Given the description of an element on the screen output the (x, y) to click on. 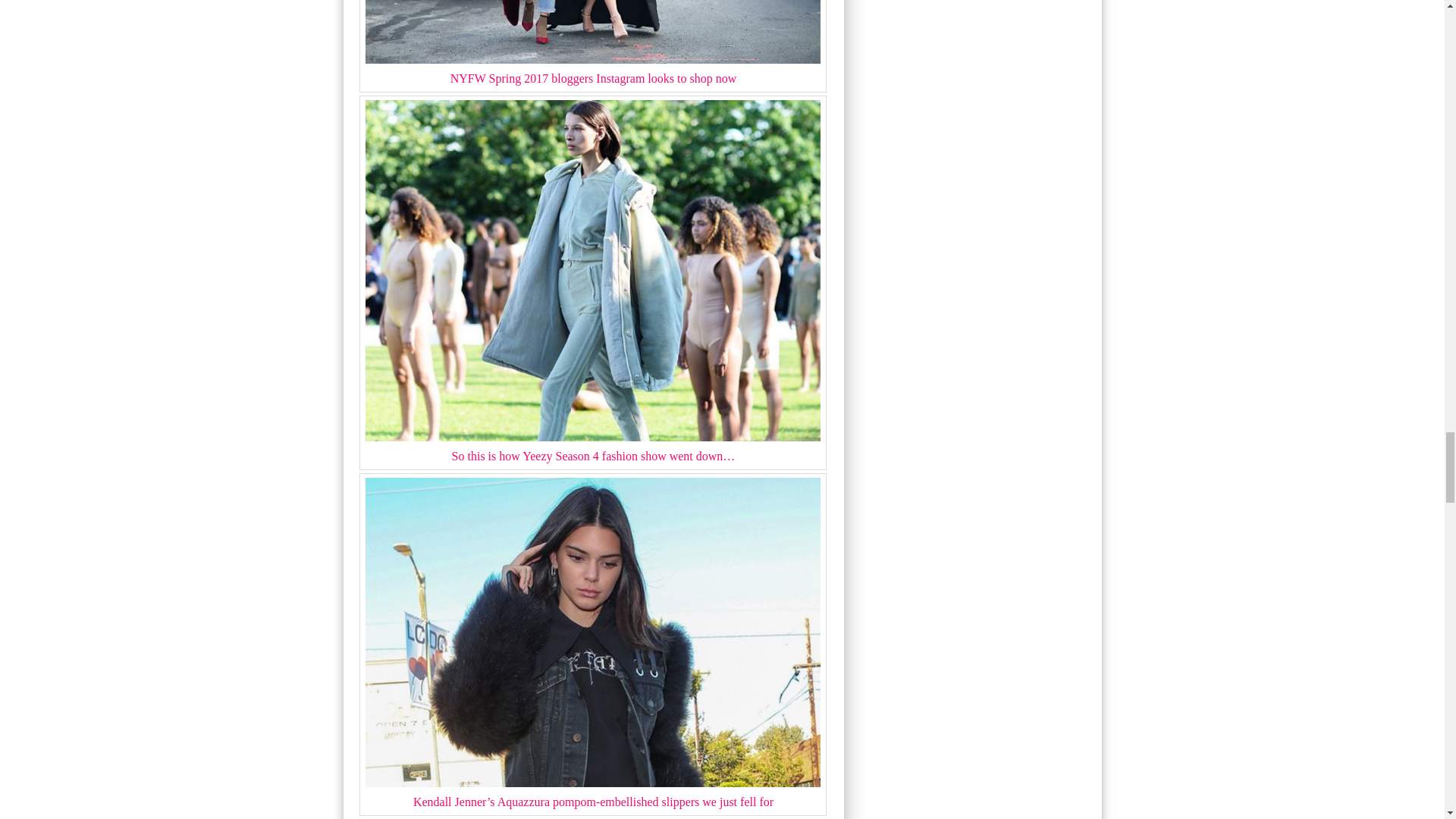
NYFW Spring 2017 bloggers Instagram looks to shop now (593, 31)
